Given the description of an element on the screen output the (x, y) to click on. 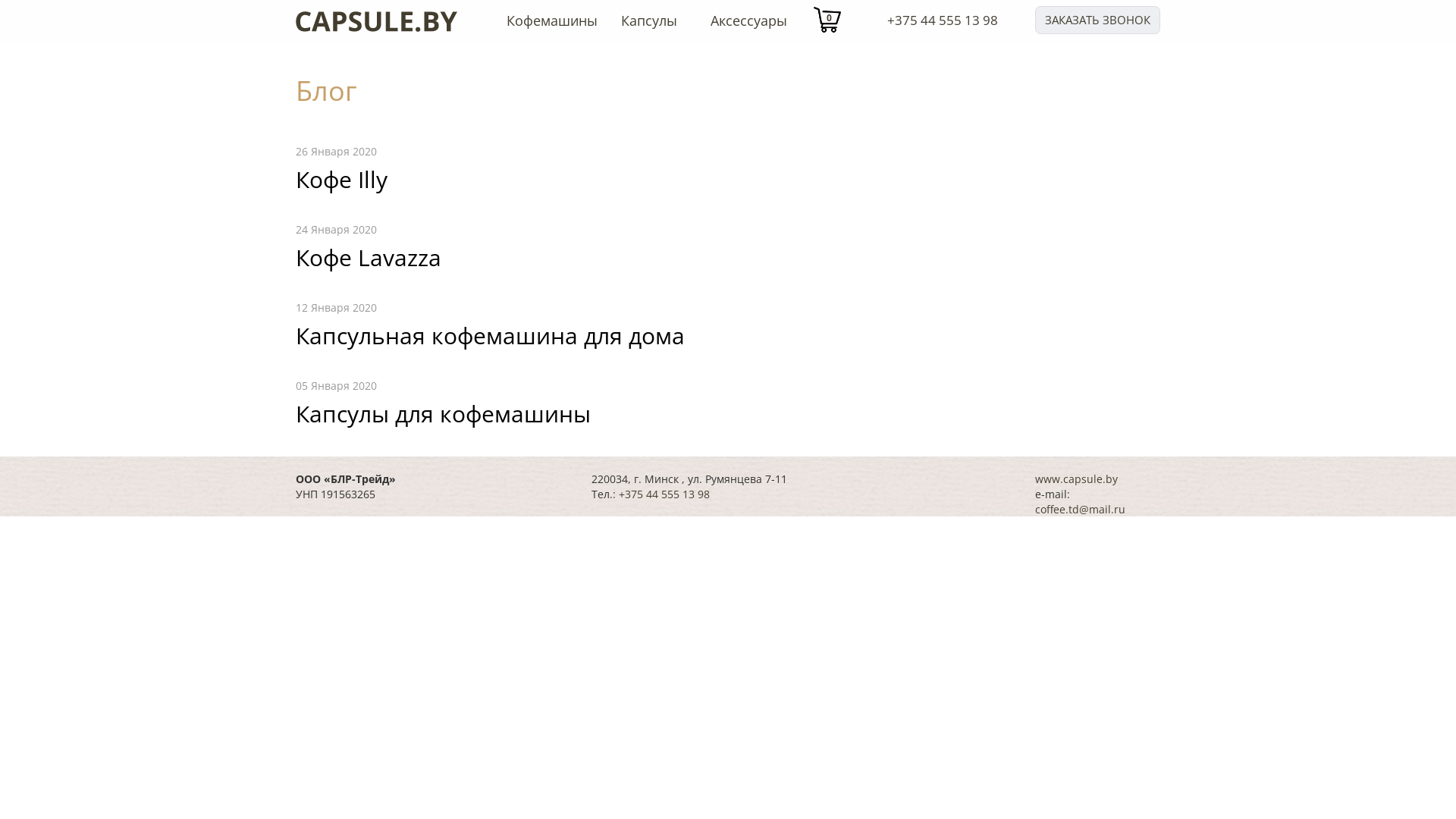
+375 44 555 13 98 Element type: text (663, 493)
0 Element type: text (826, 19)
www.capsule.by Element type: text (1076, 478)
coffee.td@mail.ru Element type: text (1080, 509)
+375 44 555 13 98 Element type: text (942, 19)
